Given the description of an element on the screen output the (x, y) to click on. 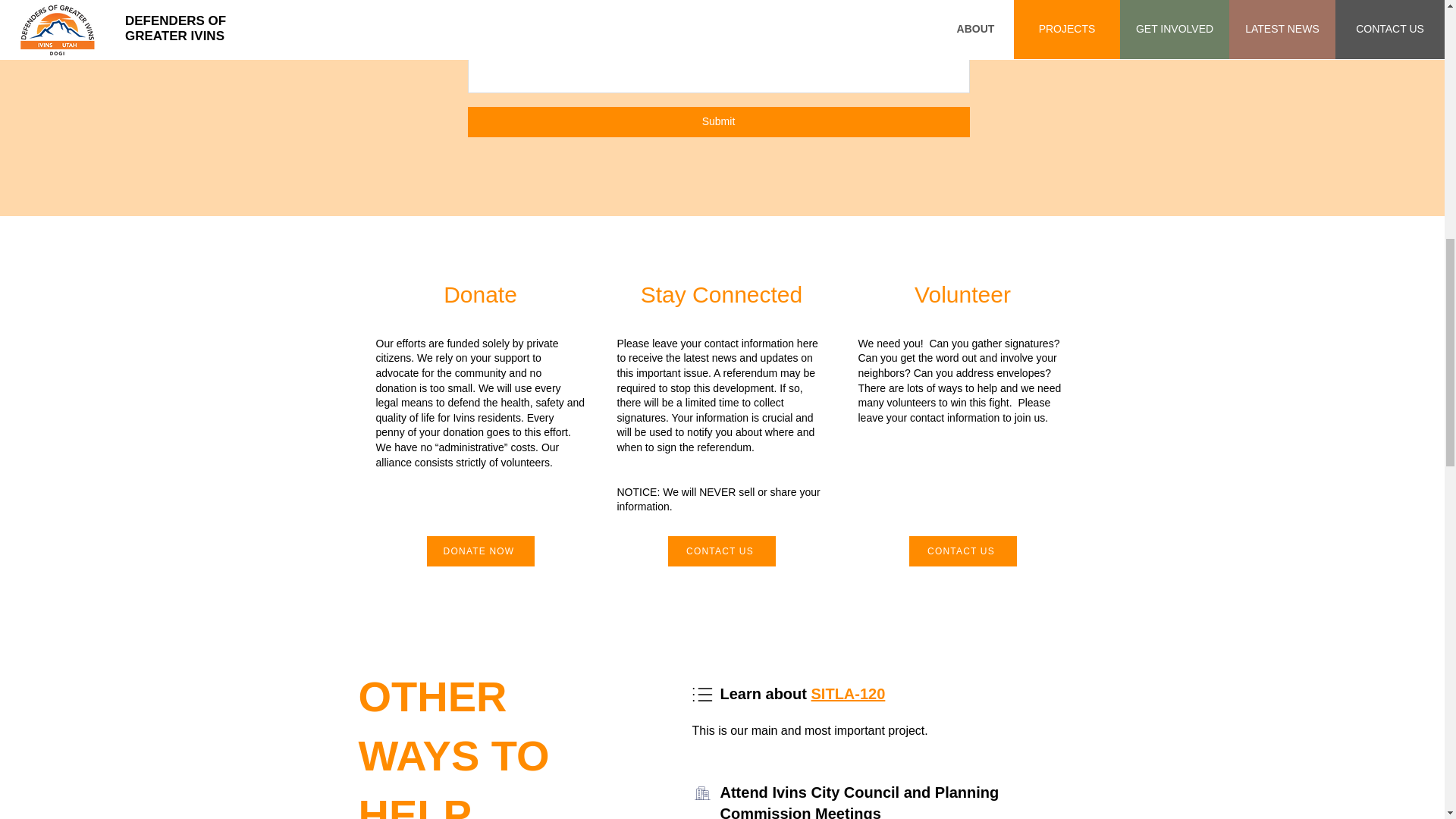
SITLA-120 (847, 693)
CONTACT US (962, 551)
Learn about (765, 693)
Submit (718, 122)
DONATE NOW (480, 551)
CONTACT US (720, 551)
